Given the description of an element on the screen output the (x, y) to click on. 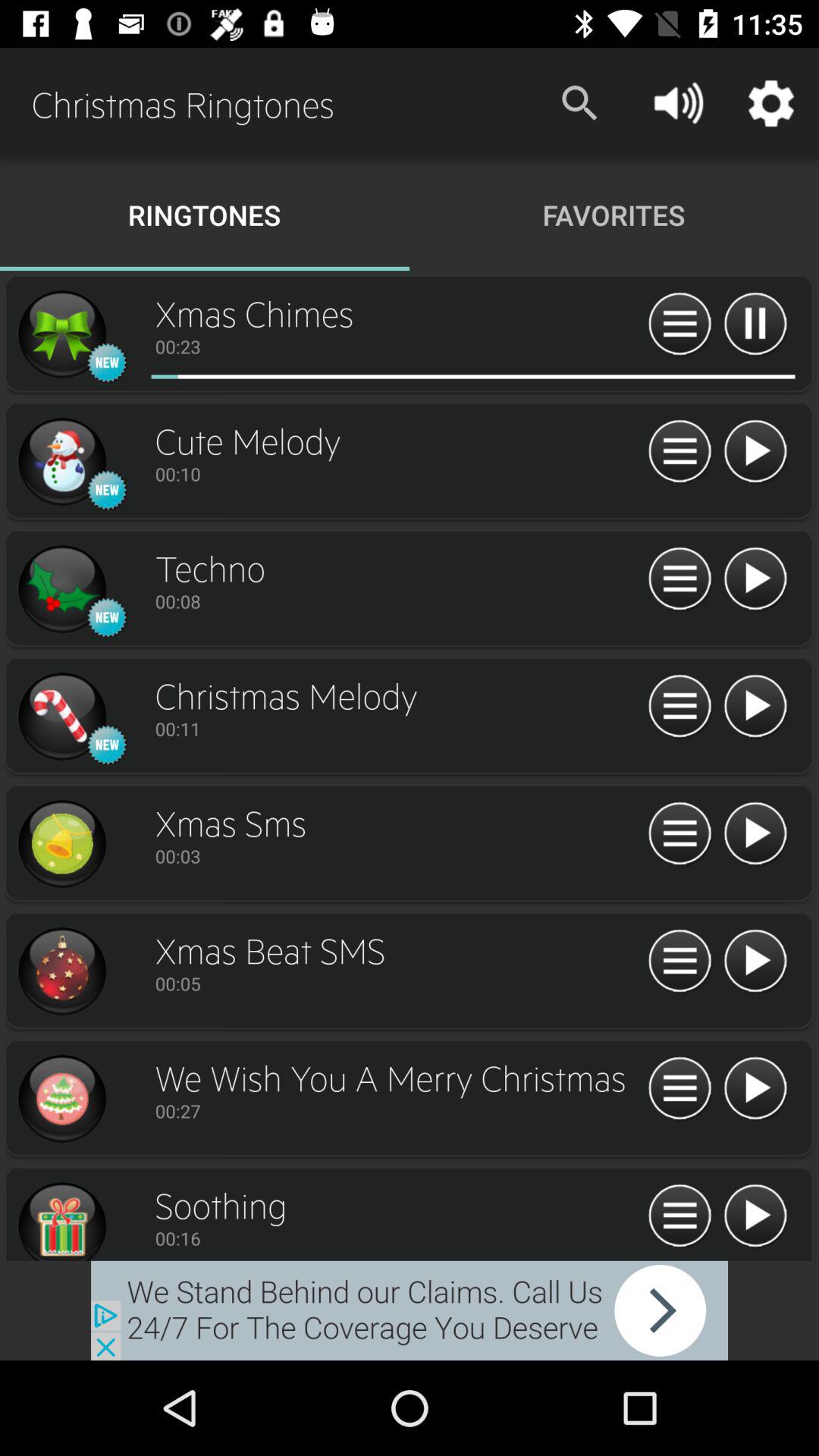
go to next (755, 1088)
